Given the description of an element on the screen output the (x, y) to click on. 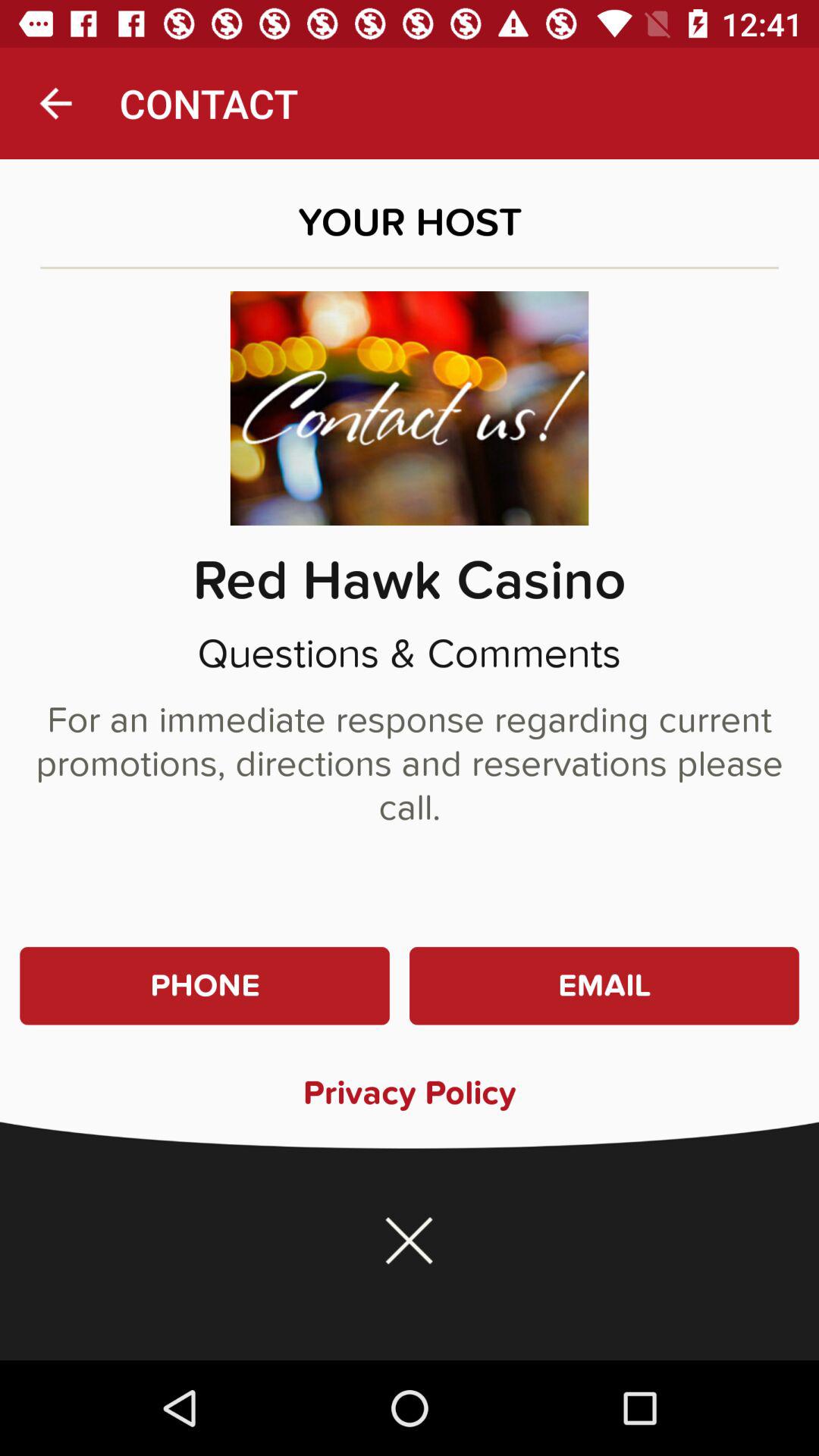
its used to saved our contacts (409, 1240)
